Given the description of an element on the screen output the (x, y) to click on. 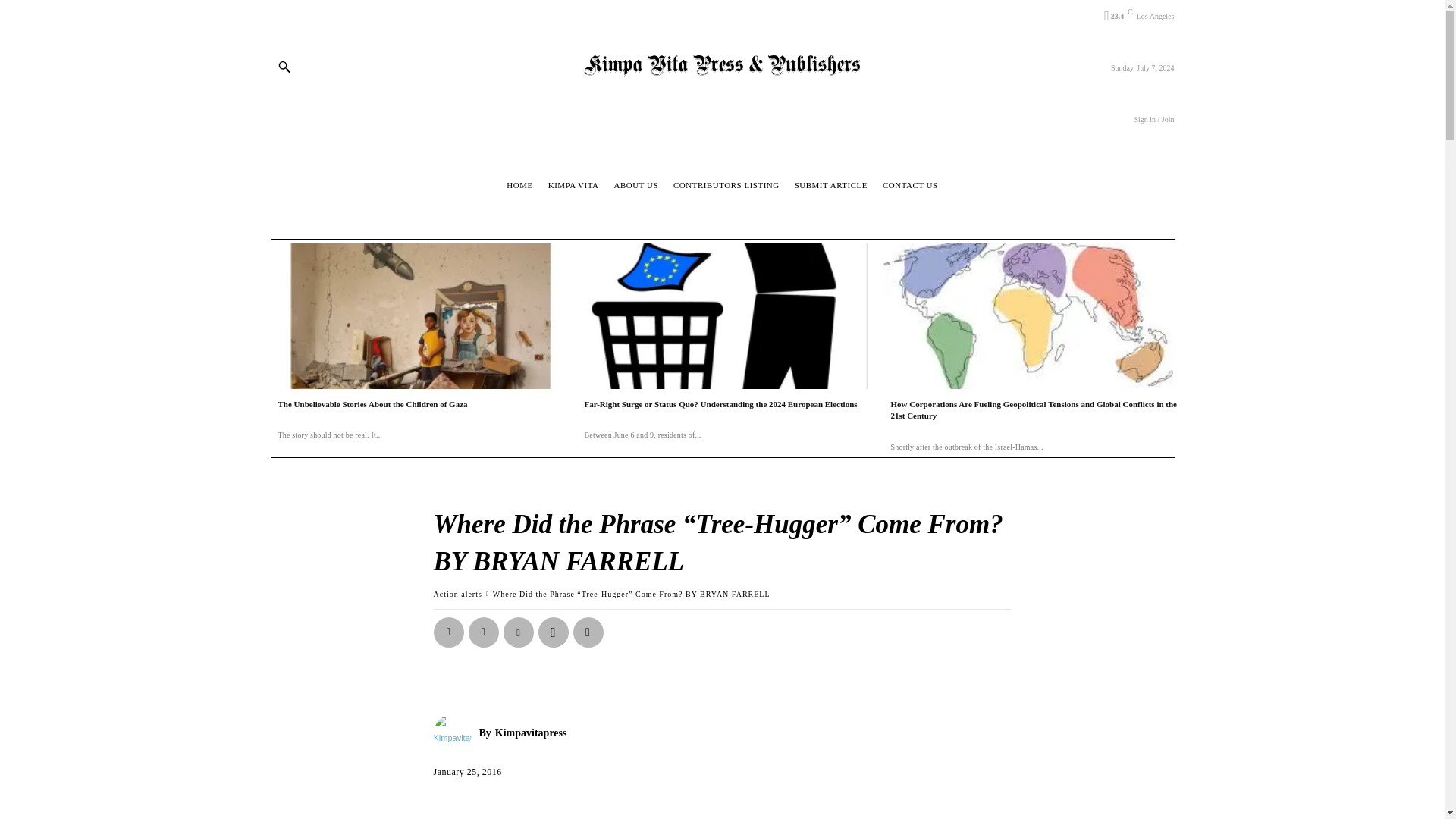
HOME (518, 185)
CONTACT US (910, 185)
Twitter (483, 632)
Action alerts (457, 593)
ABOUT US (636, 185)
Facebook (448, 632)
The Unbelievable Stories About the Children of Gaza (372, 403)
The Unbelievable Stories About the Children of Gaza (414, 316)
Pinterest (518, 632)
The Unbelievable Stories About the Children of Gaza (372, 403)
CONTRIBUTORS LISTING (726, 185)
KIMPA VITA (573, 185)
